Given the description of an element on the screen output the (x, y) to click on. 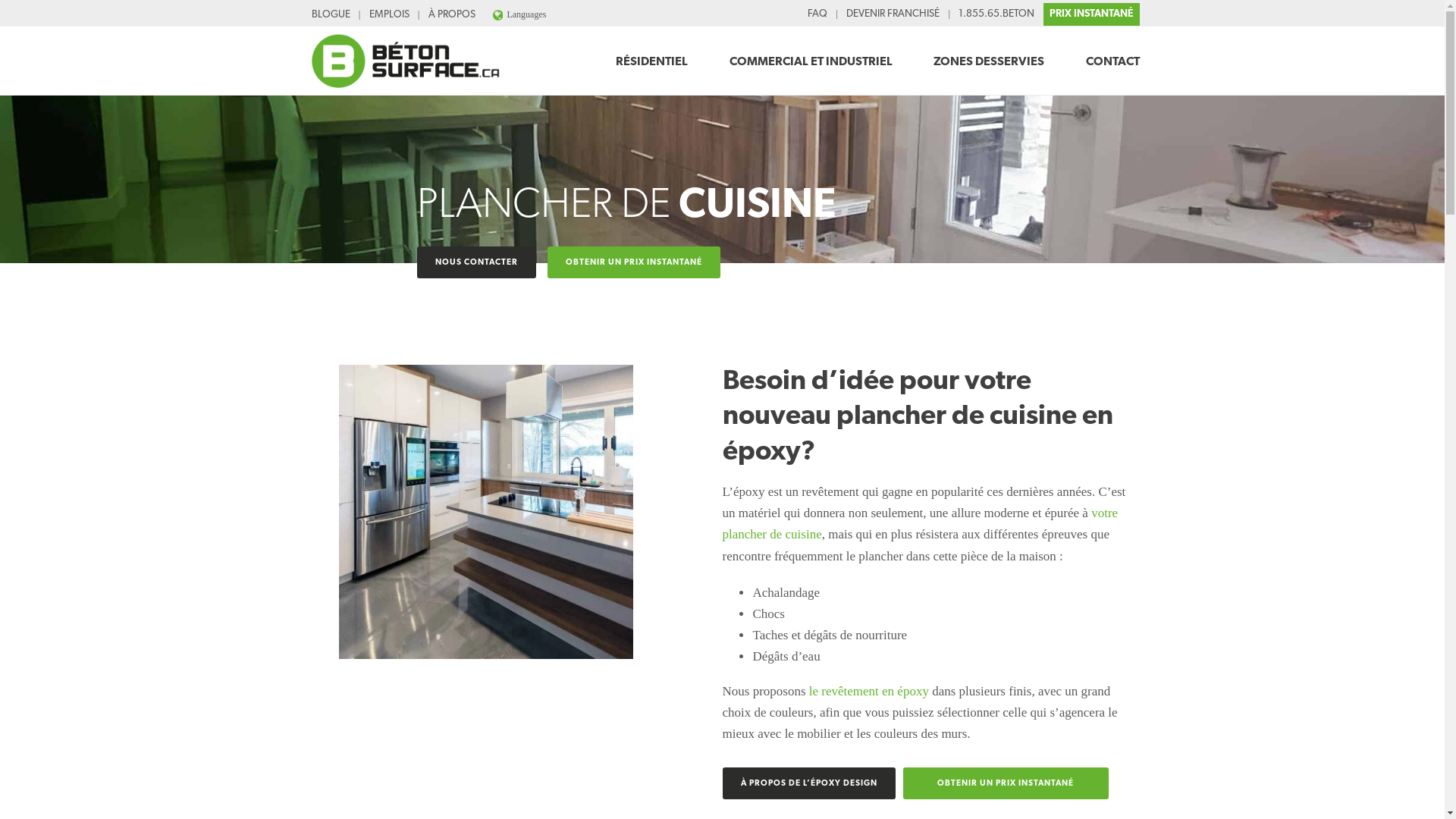
BLOGUE Element type: text (329, 14)
ZONES DESSERVIES Element type: text (988, 48)
EMPLOIS Element type: text (389, 14)
Plancher de garage Element type: hover (403, 60)
NOUS CONTACTER Element type: text (476, 261)
Languages Element type: text (519, 14)
b-protek_1x1_2 Element type: hover (485, 511)
COMMERCIAL ET INDUSTRIEL Element type: text (810, 48)
1.855.65.BETON Element type: text (996, 14)
CONTACT Element type: text (1112, 48)
FAQ Element type: text (817, 14)
votre plancher de cuisine Element type: text (919, 523)
